Given the description of an element on the screen output the (x, y) to click on. 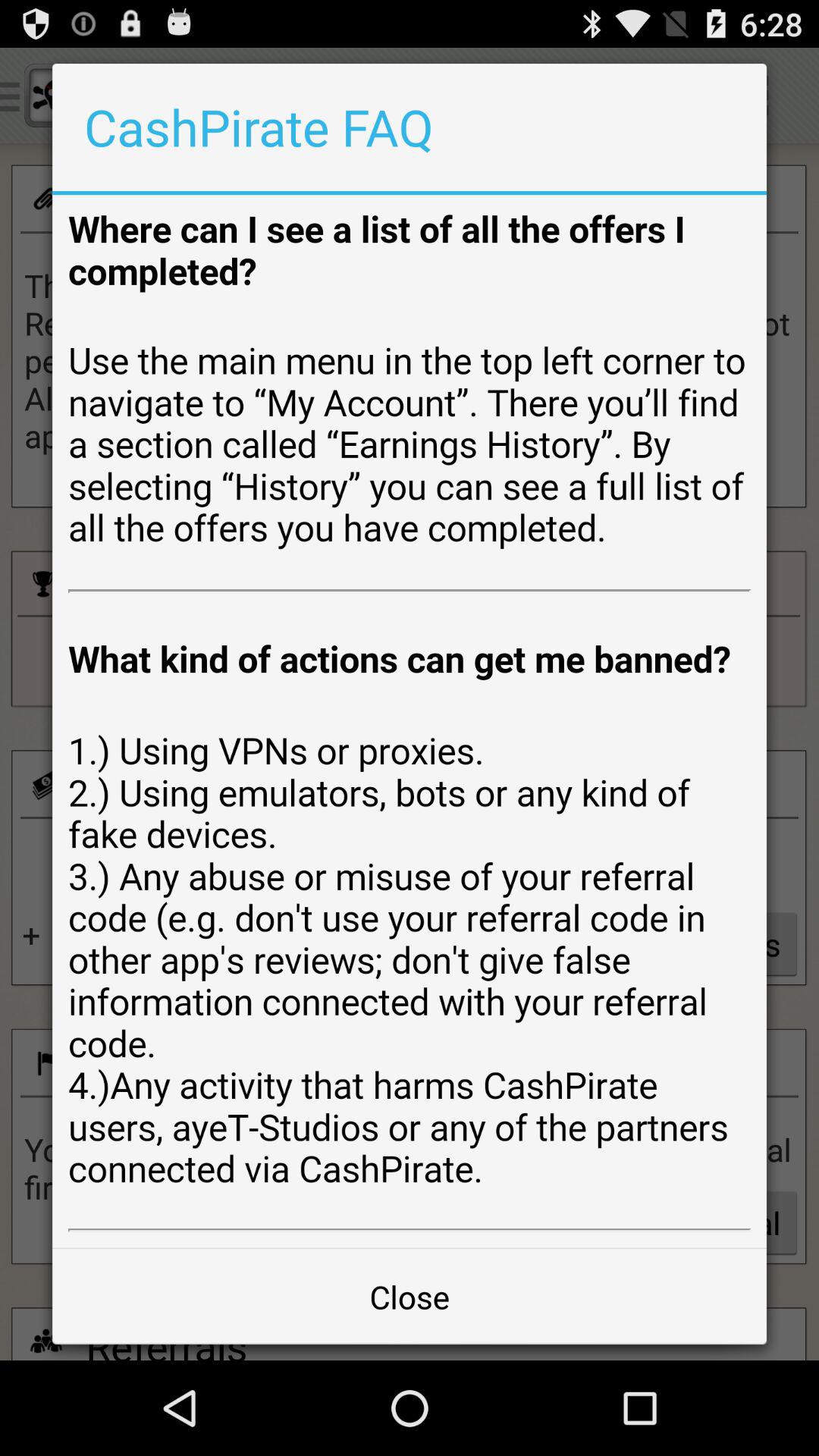
cashpirate faq (409, 721)
